Given the description of an element on the screen output the (x, y) to click on. 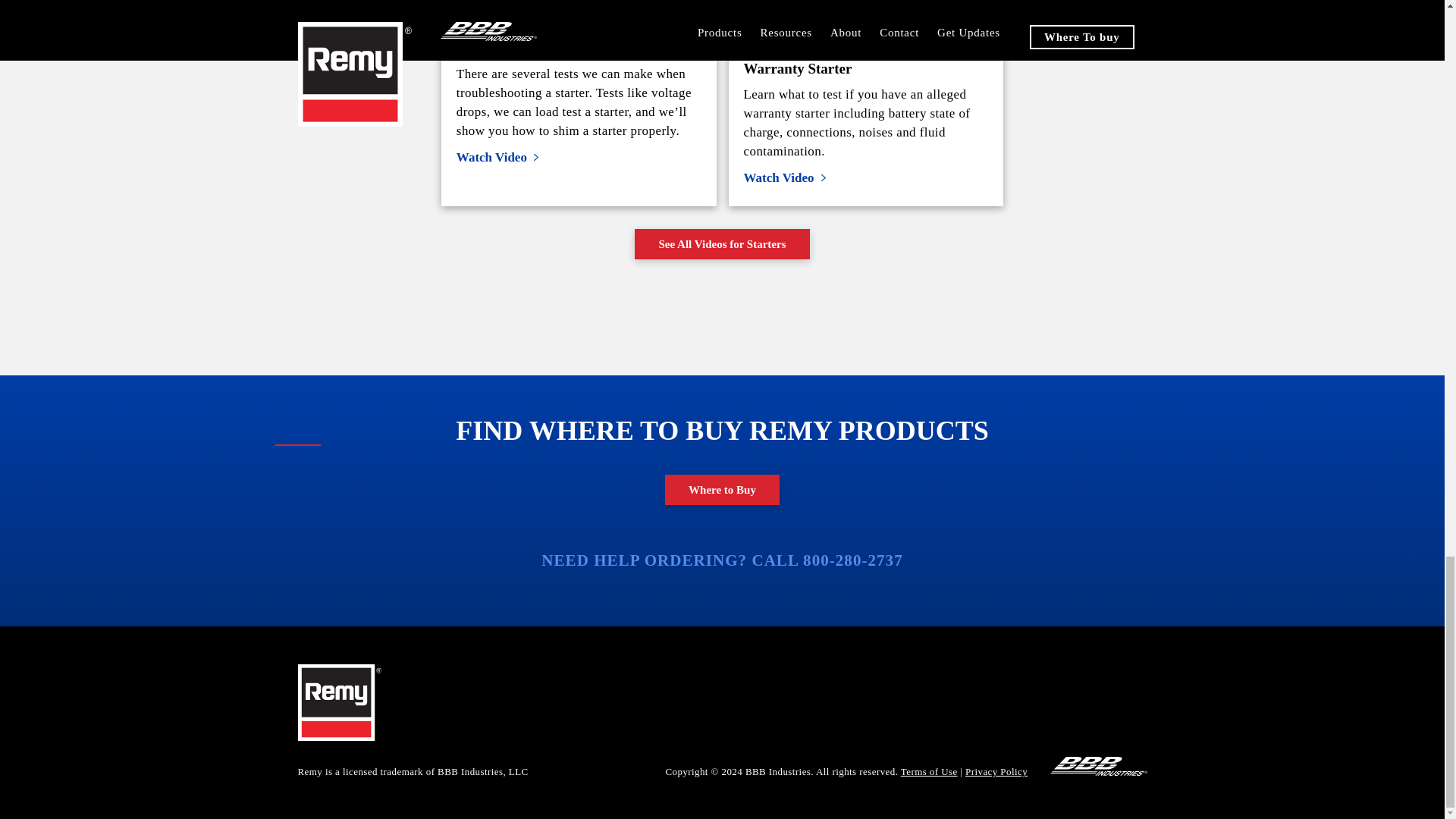
See All Videos for Starters (721, 244)
Privacy Policy (996, 771)
Terms of Use (929, 771)
Where to Buy (721, 490)
